Given the description of an element on the screen output the (x, y) to click on. 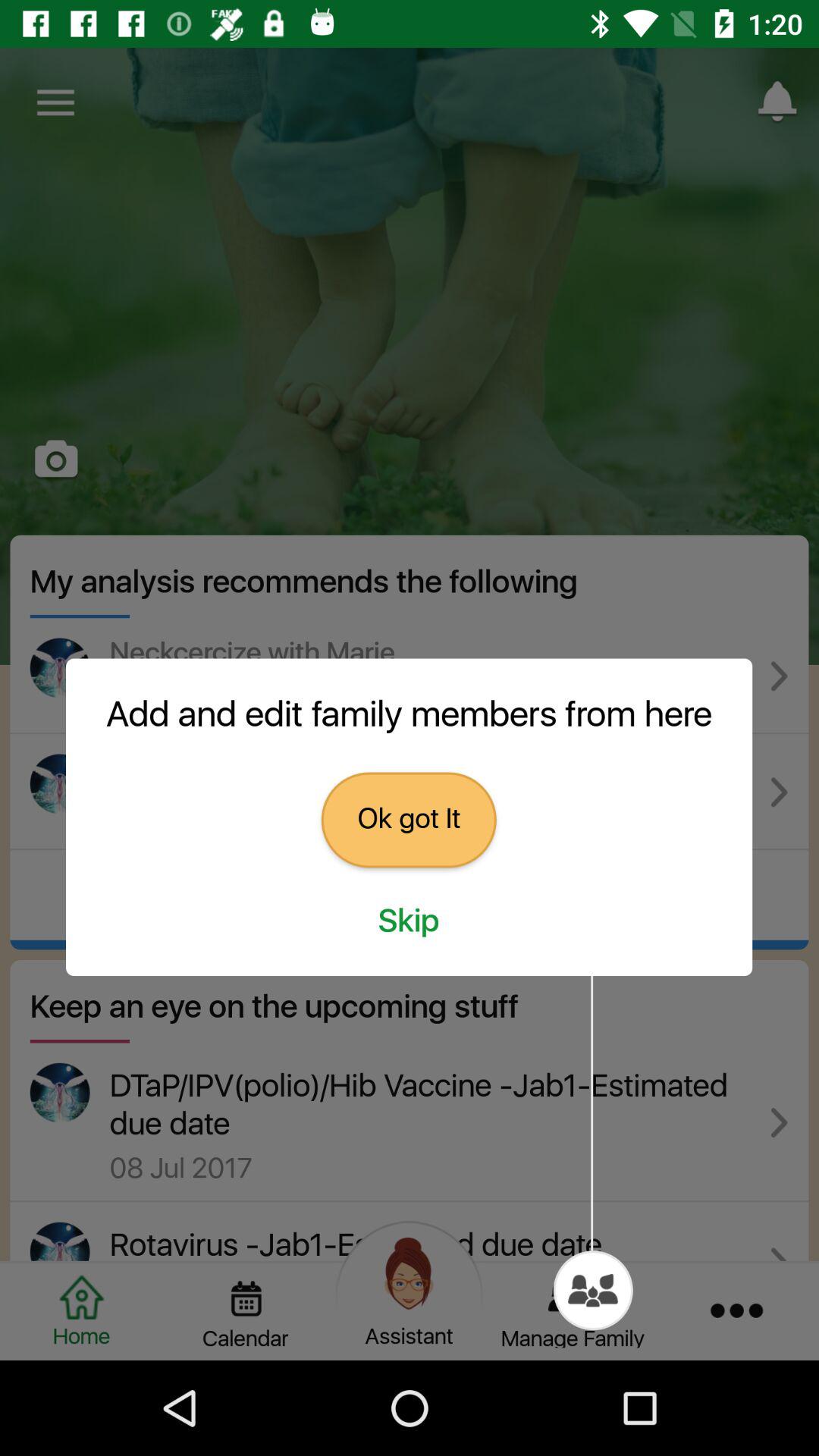
tap the icon below the add and edit (408, 819)
